Given the description of an element on the screen output the (x, y) to click on. 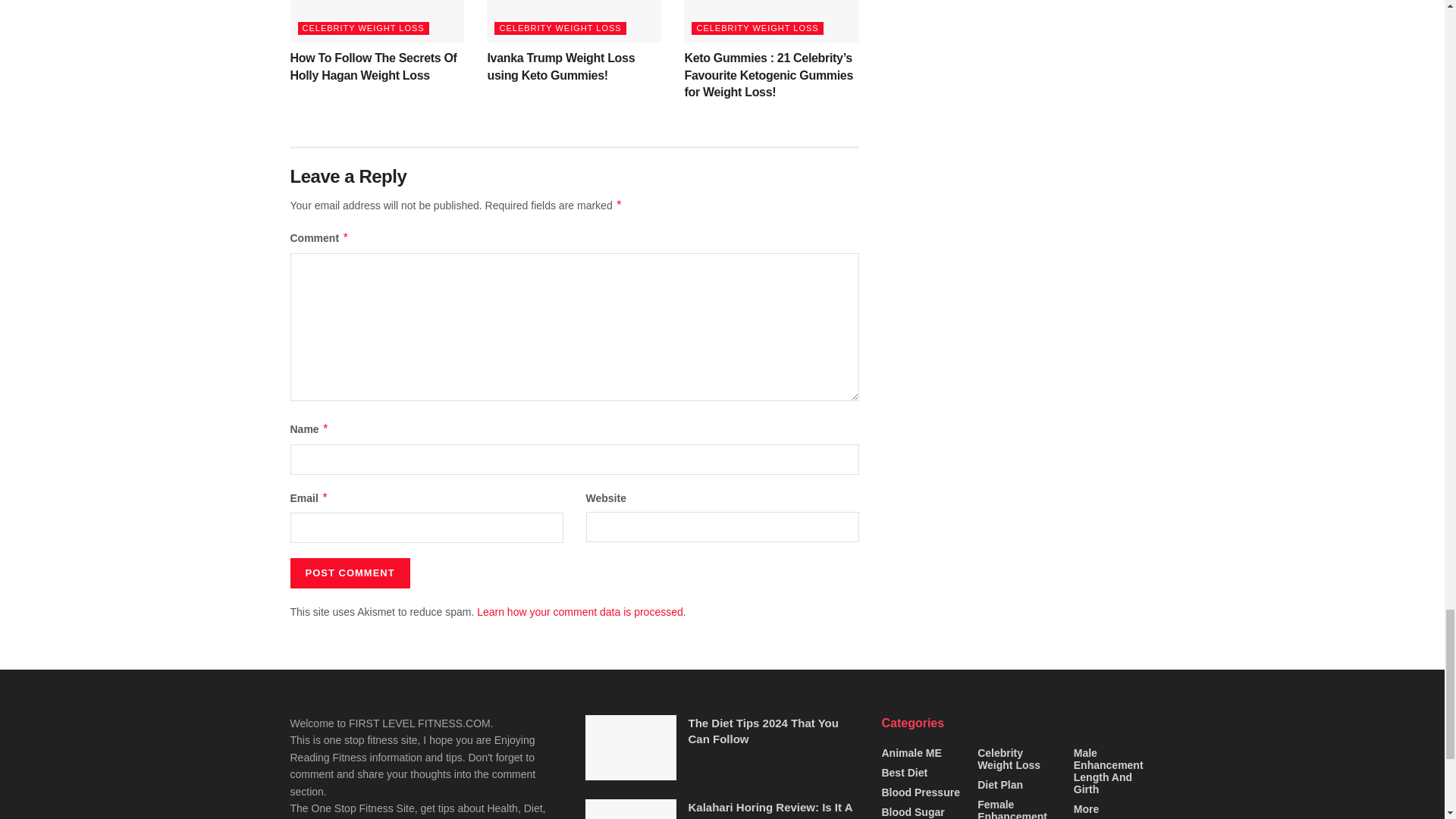
Post Comment (349, 572)
